Given the description of an element on the screen output the (x, y) to click on. 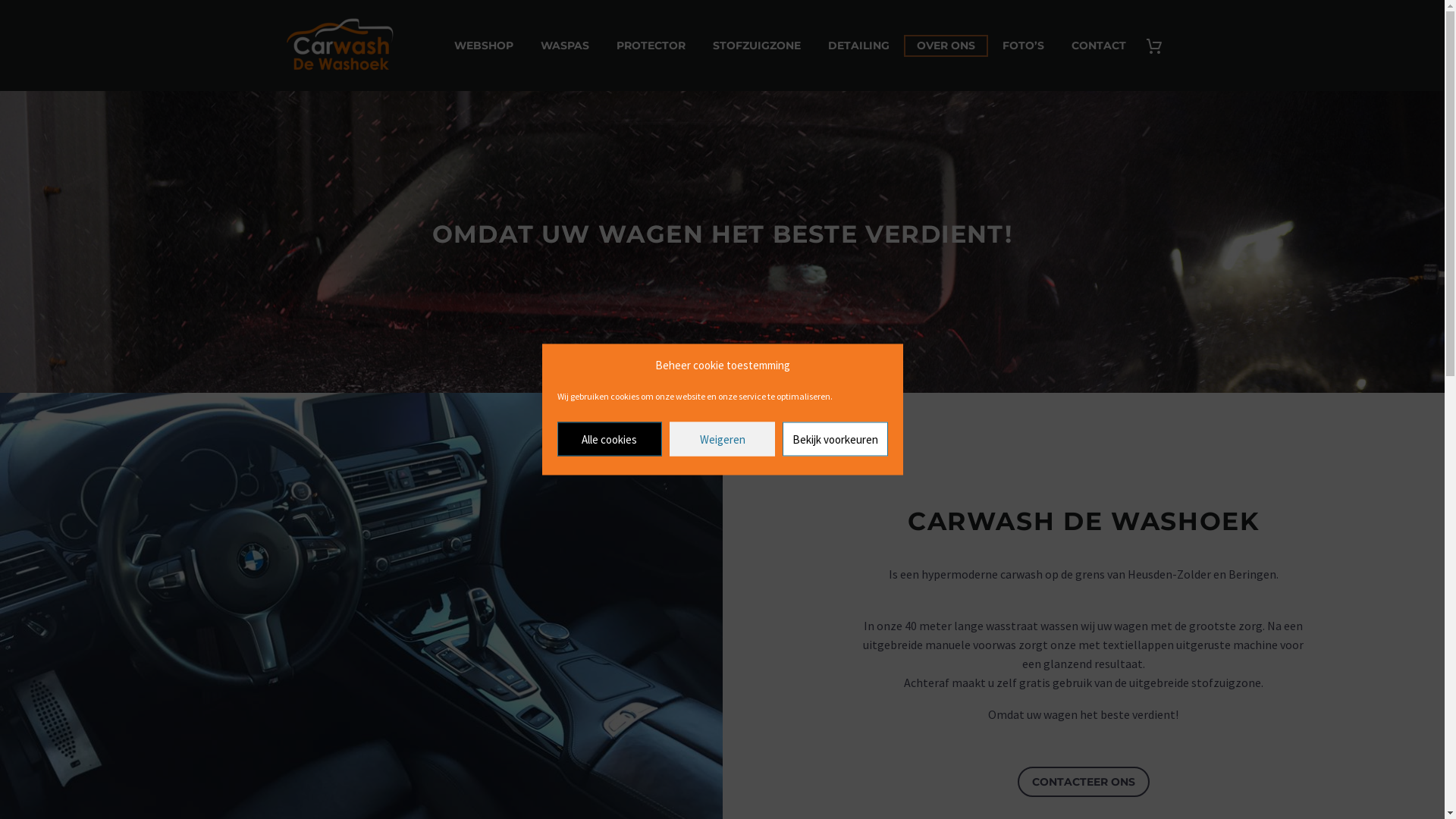
Bekijk voorkeuren Element type: text (835, 438)
DETAILING Element type: text (857, 45)
Weigeren Element type: text (722, 438)
CONTACT Element type: text (1098, 45)
STOFZUIGZONE Element type: text (755, 45)
CONTACTEER ONS Element type: text (1083, 781)
PROTECTOR Element type: text (650, 45)
OVER ONS Element type: text (945, 45)
Alle cookies Element type: text (609, 438)
WASPAS Element type: text (564, 45)
WEBSHOP Element type: text (483, 45)
